Given the description of an element on the screen output the (x, y) to click on. 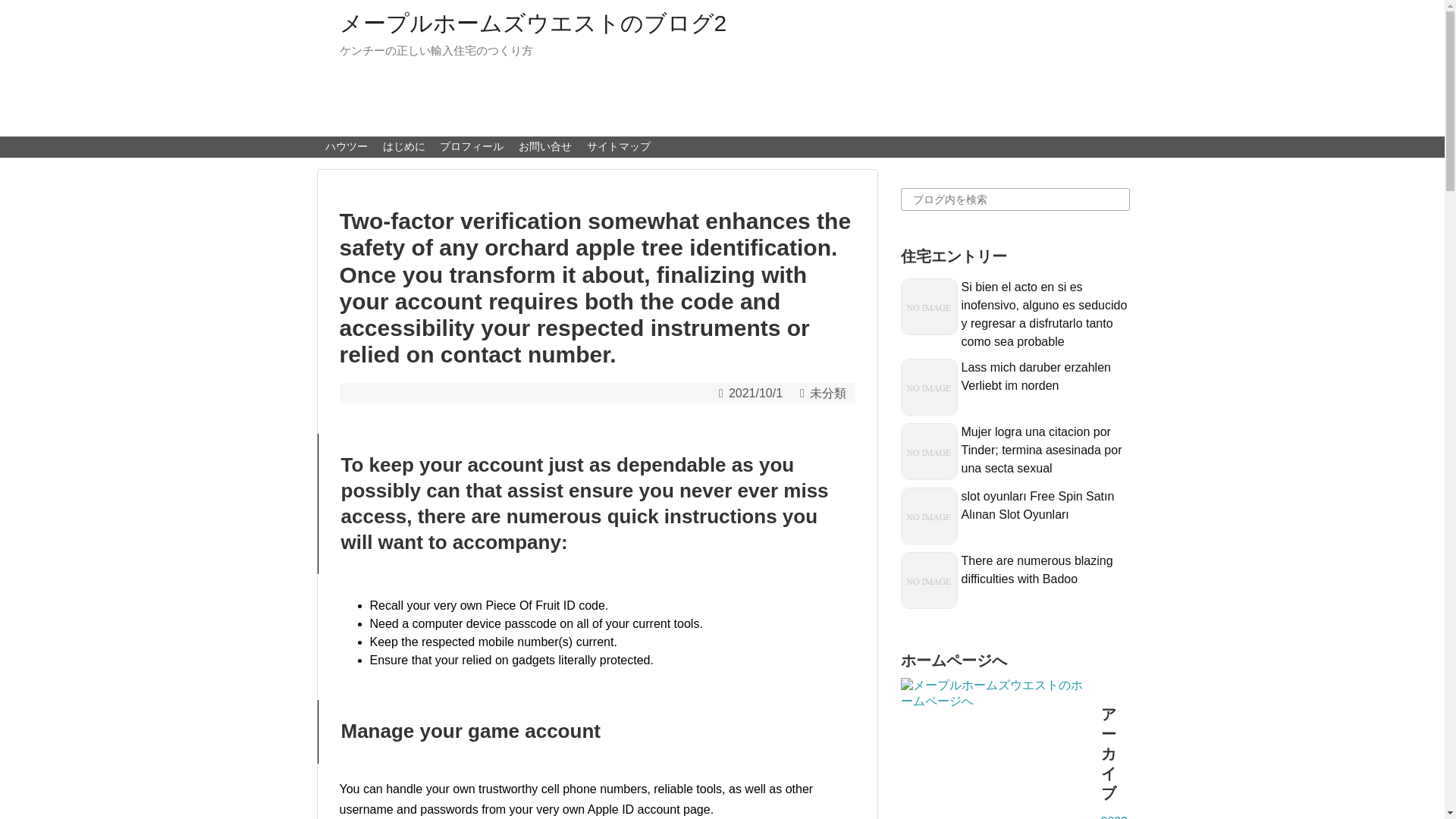
There are numerous blazing difficulties with Badoo (1036, 569)
NO IMAGE (929, 306)
NO IMAGE (929, 515)
NO IMAGE (929, 386)
NO IMAGE (929, 580)
NO IMAGE (929, 451)
Lass mich daruber erzahlen Verliebt im norden (1035, 376)
